Given the description of an element on the screen output the (x, y) to click on. 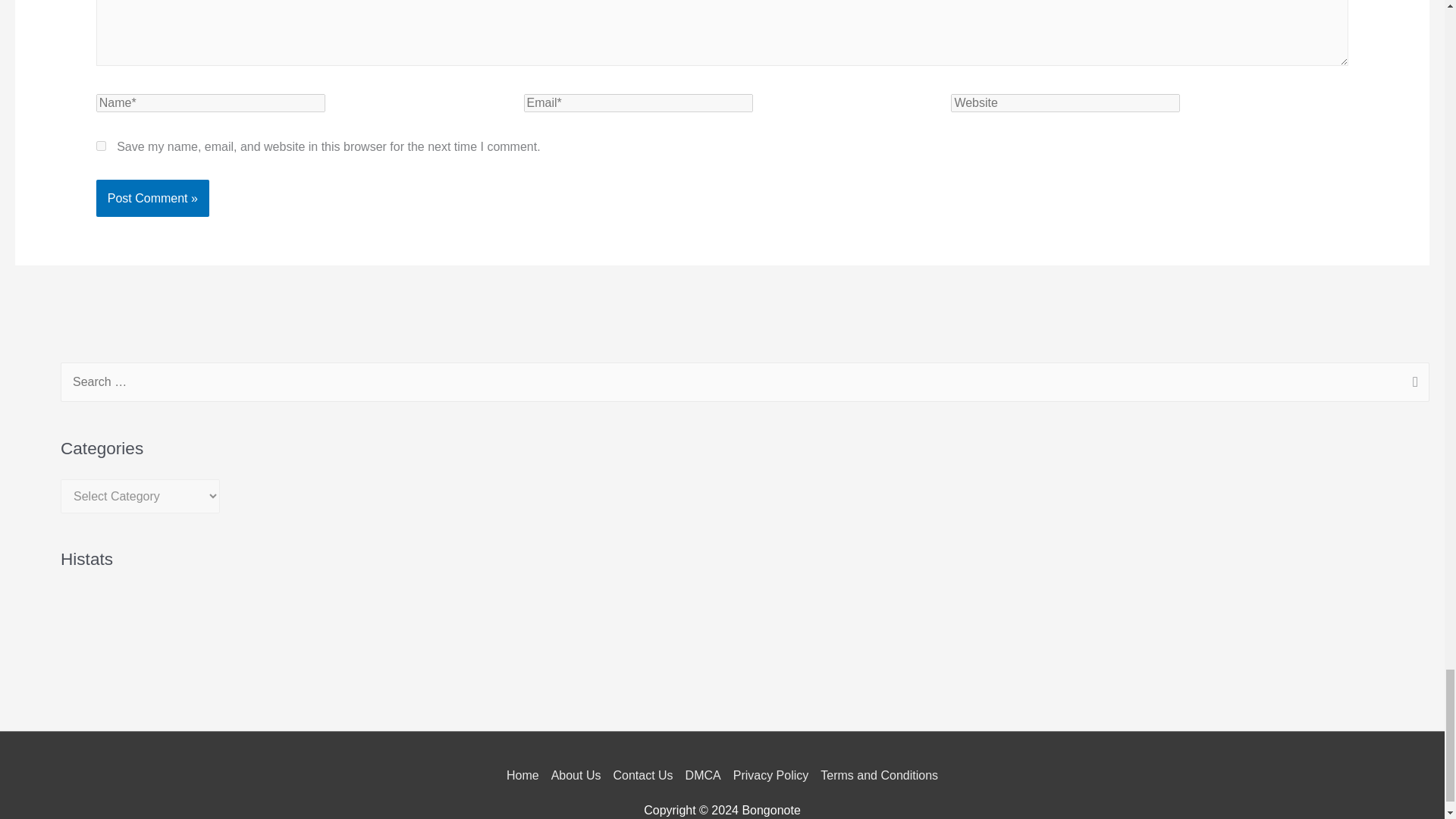
yes (101, 145)
